Given the description of an element on the screen output the (x, y) to click on. 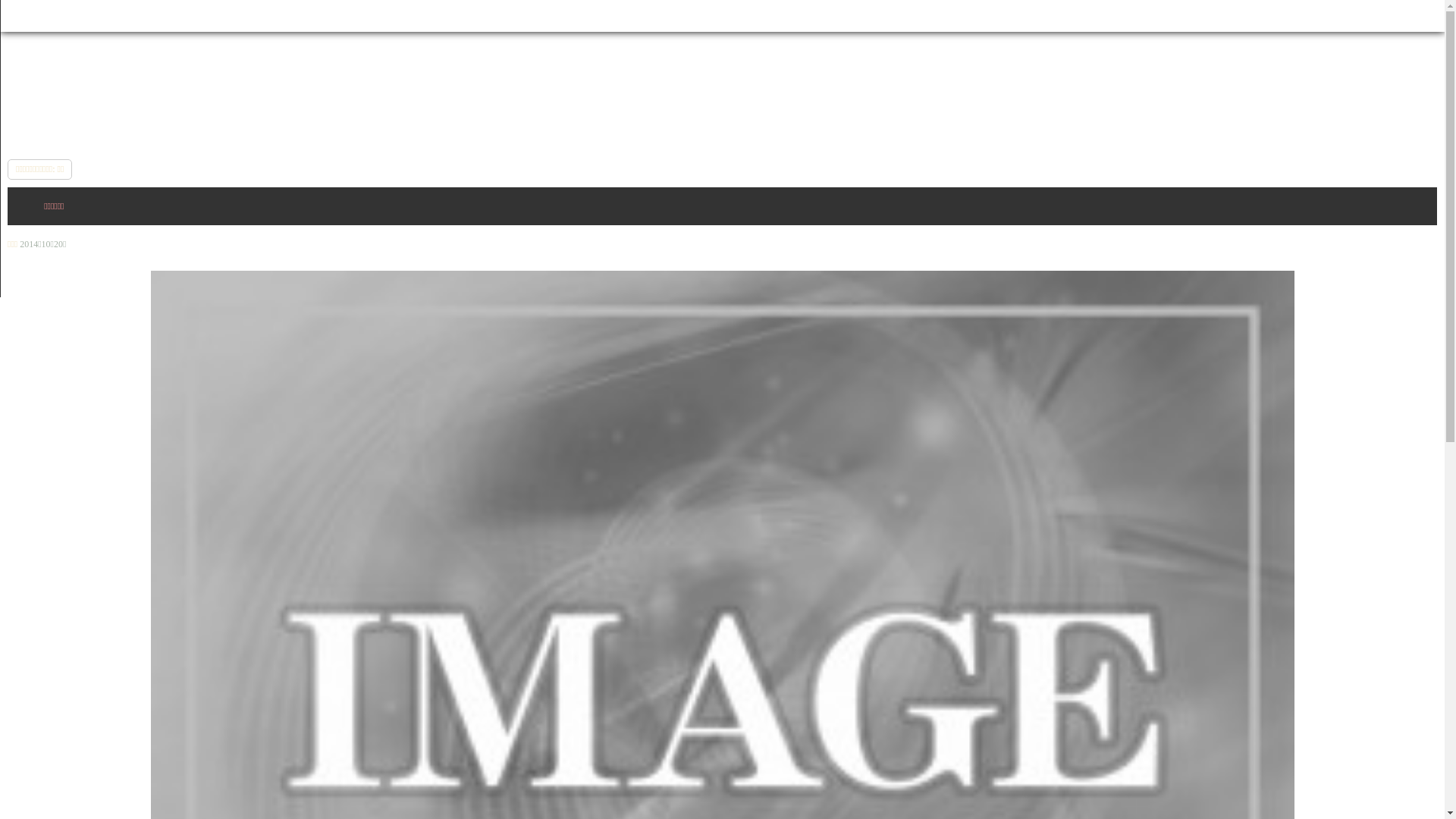
restore compass Element type: hover (721, 211)
